Given the description of an element on the screen output the (x, y) to click on. 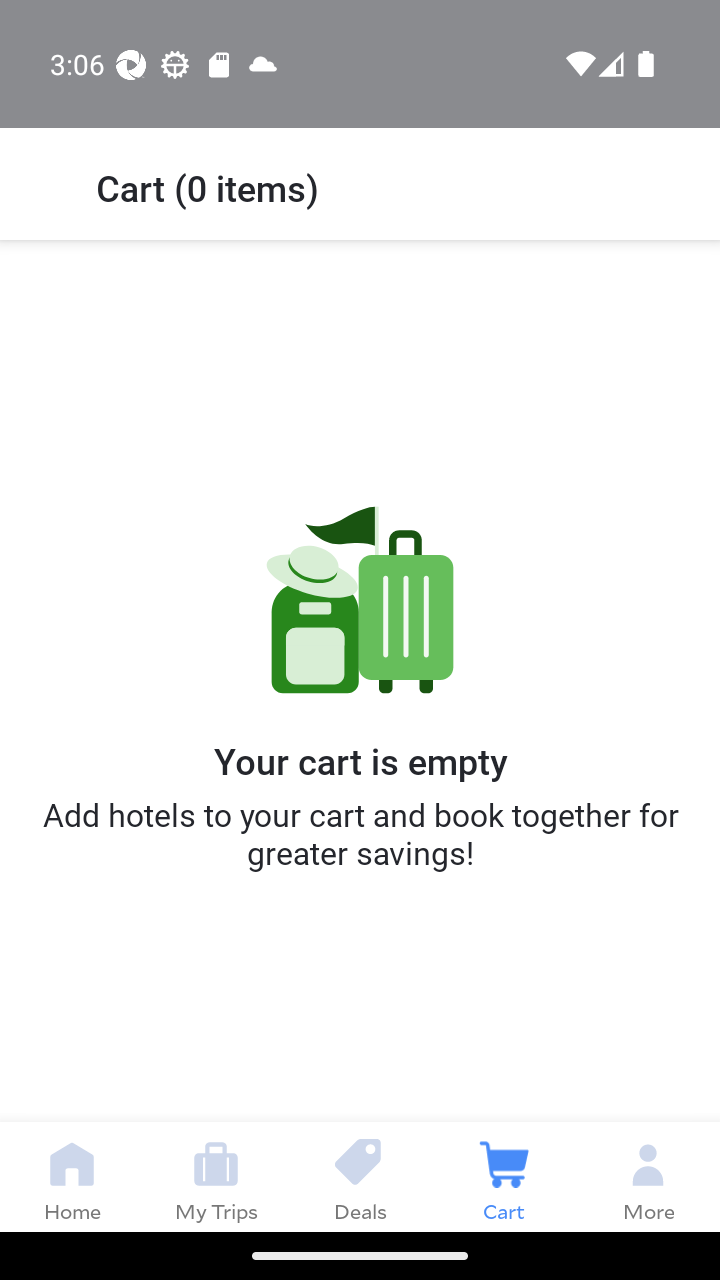
Home (72, 1176)
My Trips (216, 1176)
Deals (360, 1176)
Cart (504, 1176)
More (648, 1176)
